Given the description of an element on the screen output the (x, y) to click on. 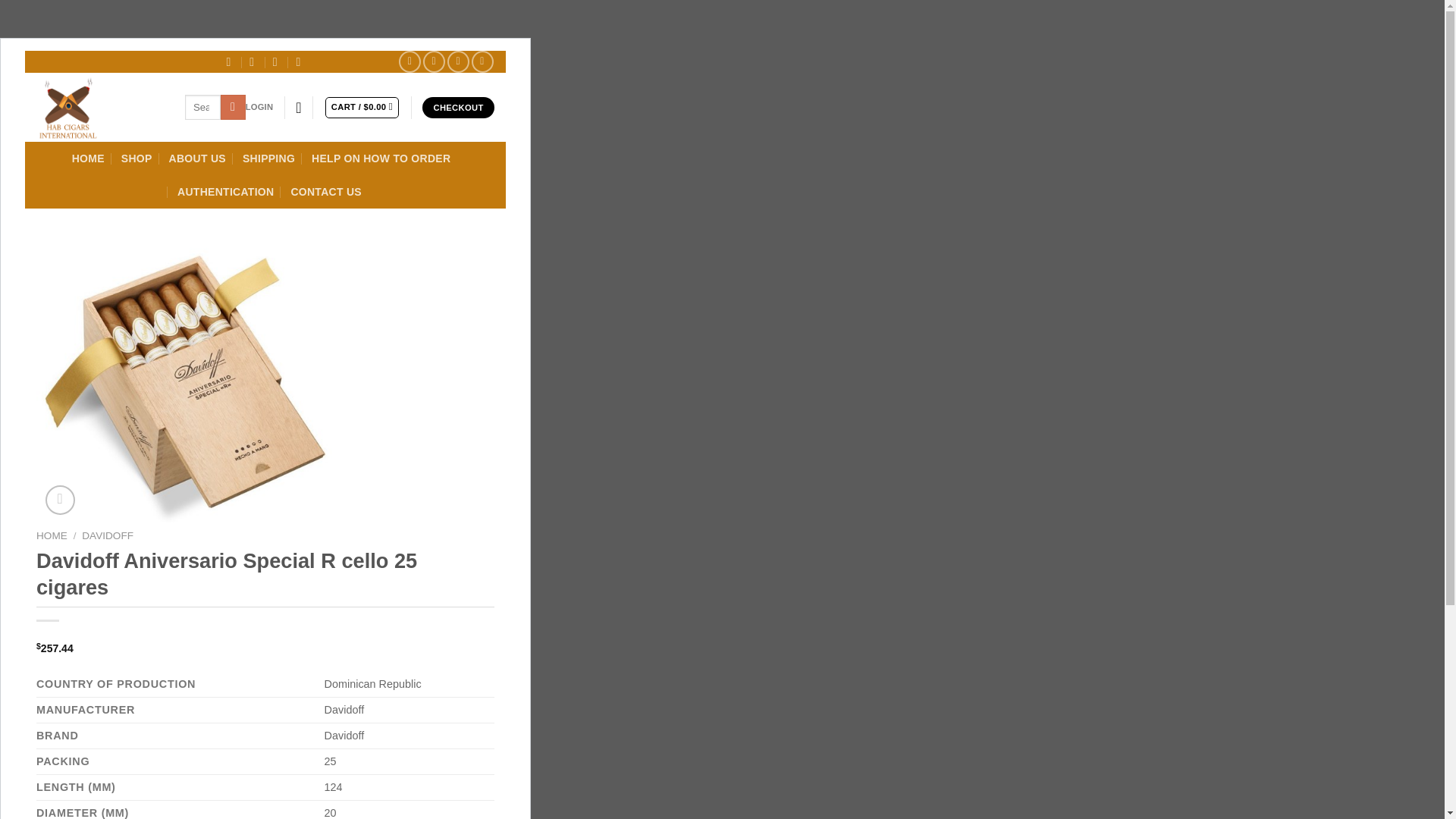
CONTACT US (325, 191)
HOME (87, 158)
Search (233, 107)
HOME (51, 535)
Cart (361, 107)
DAVIDOFF (107, 535)
Call us (482, 61)
08:00 - 17:00  (252, 61)
CHECKOUT (458, 107)
Zoom (60, 500)
Follow on Facebook (409, 61)
HAB  CIGARS - BUY  CIGARS ONLINE (98, 106)
LOGIN (259, 107)
SHIPPING (269, 158)
